Given the description of an element on the screen output the (x, y) to click on. 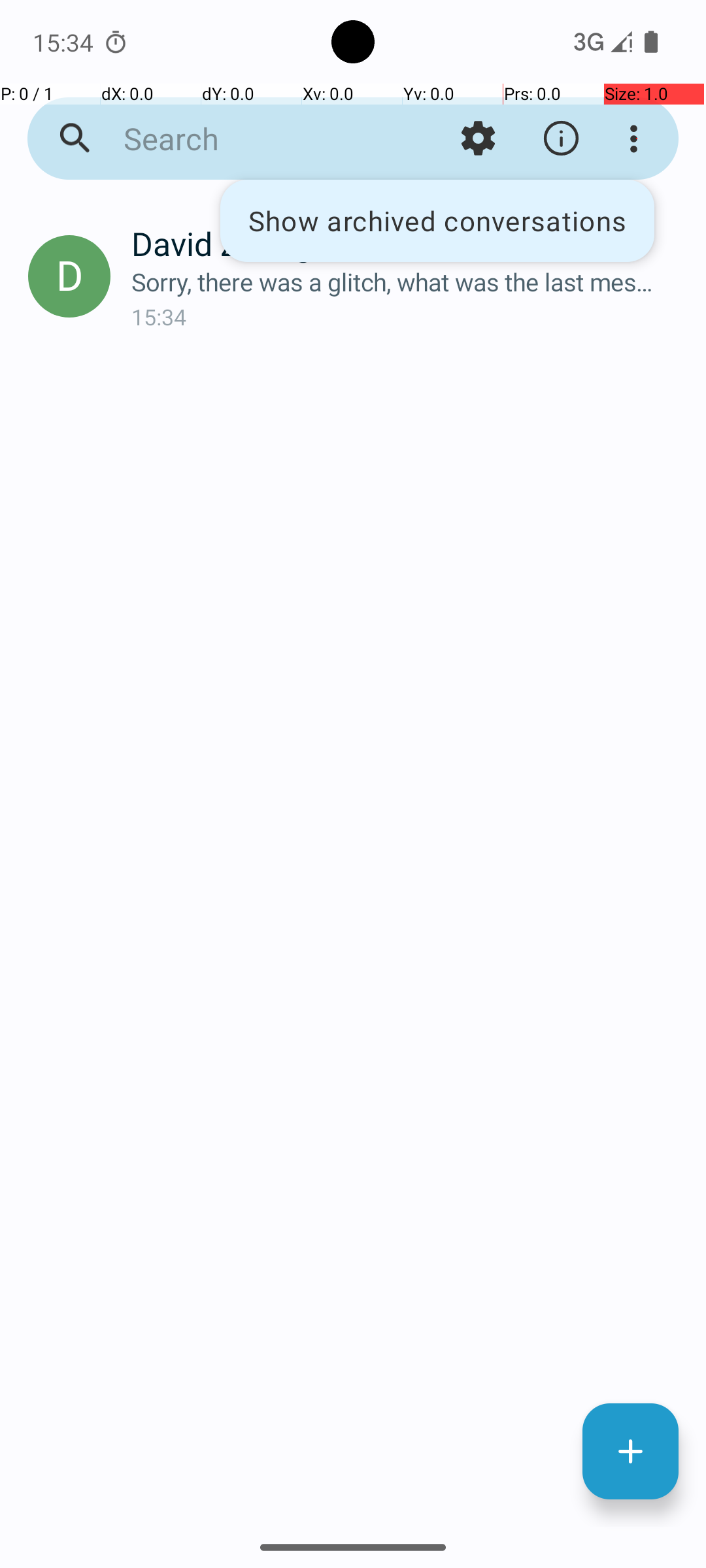
Show archived conversations Element type: android.widget.TextView (436, 220)
